Given the description of an element on the screen output the (x, y) to click on. 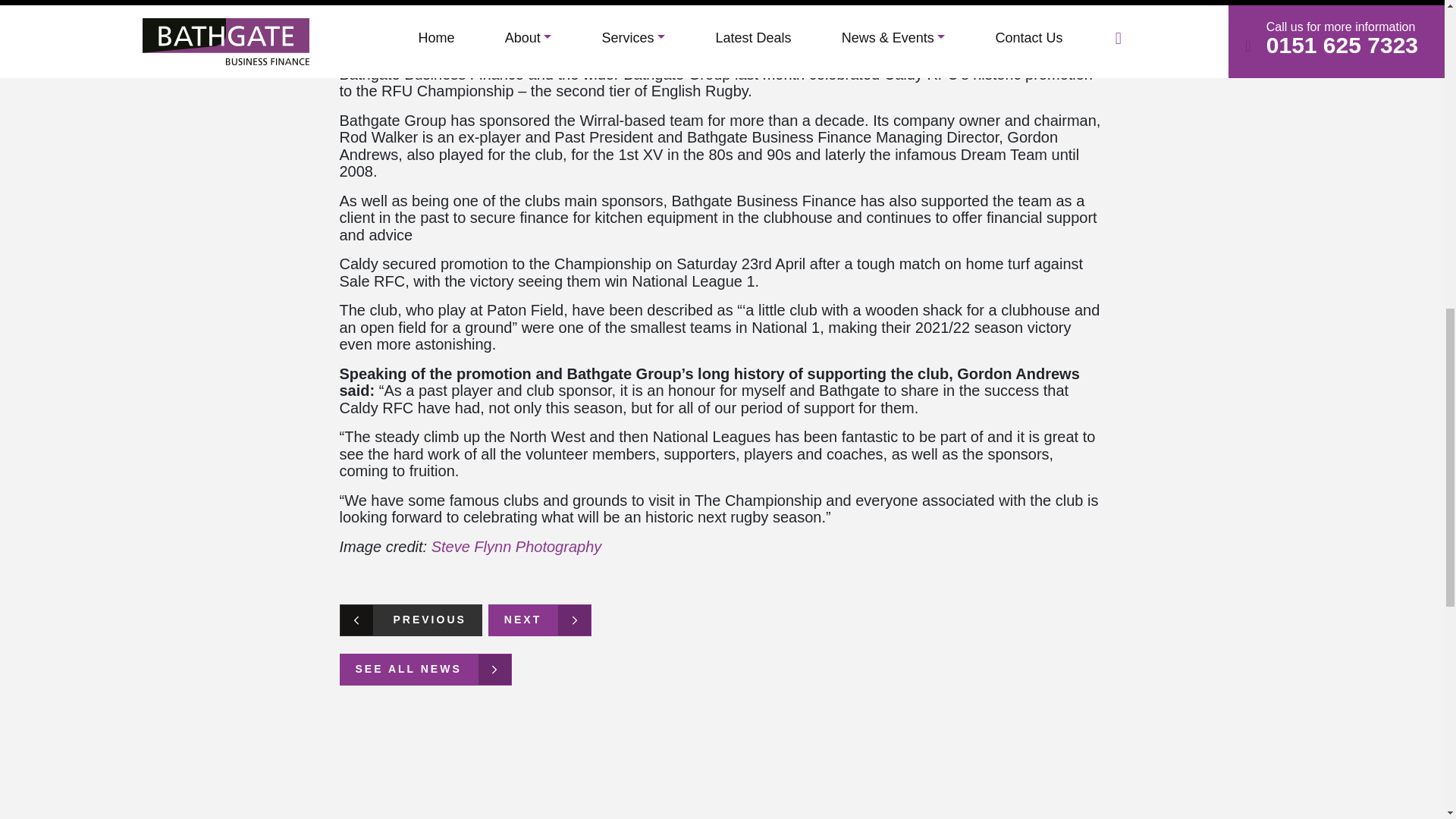
SEE ALL NEWS (425, 669)
NEXT (539, 620)
PREVIOUS (410, 620)
Steve Flynn Photography (516, 546)
